Given the description of an element on the screen output the (x, y) to click on. 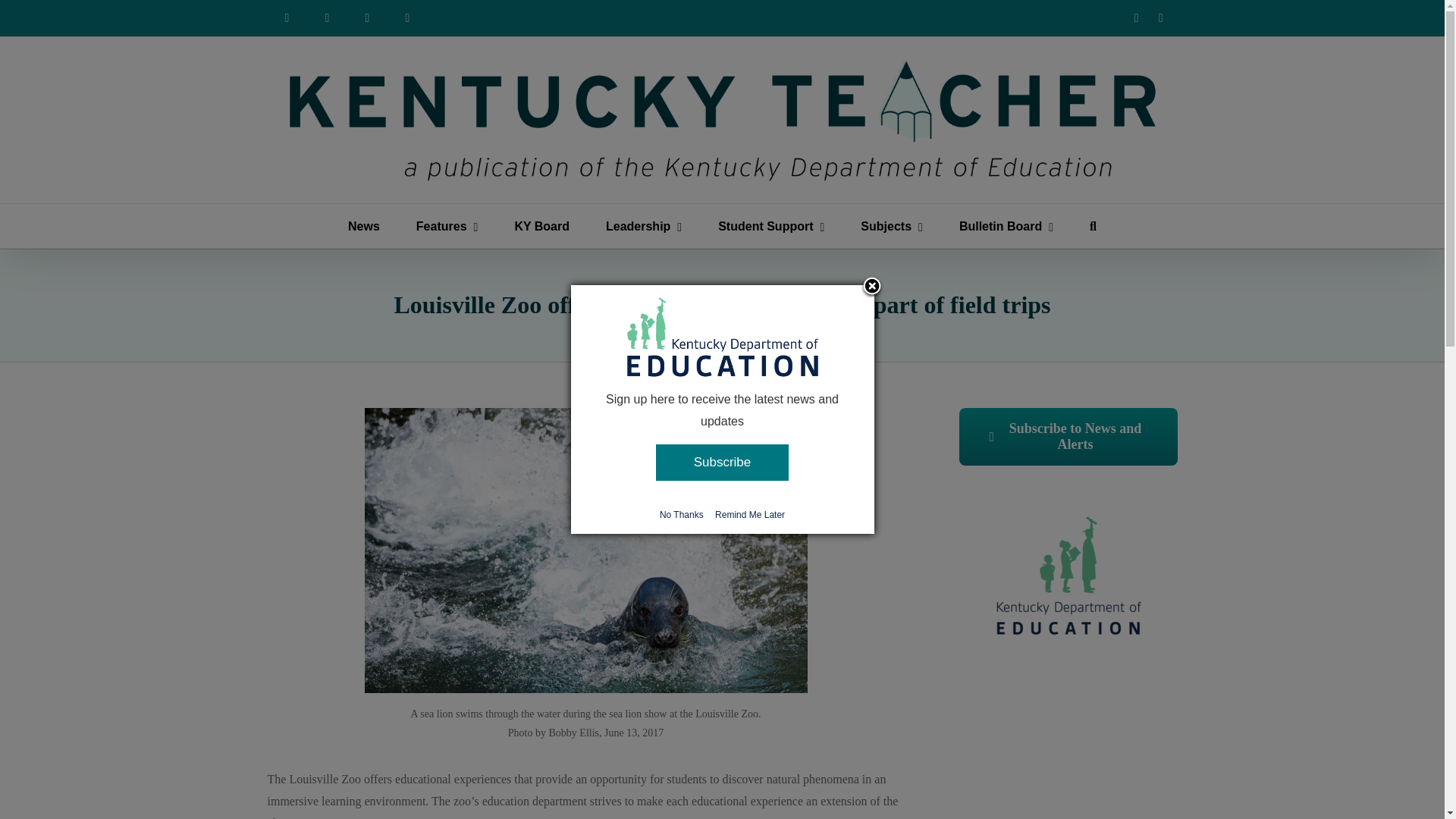
Subjects (891, 225)
KY Board (541, 225)
Leadership (643, 225)
Features (447, 225)
Student Support (770, 225)
Home (285, 18)
About (327, 18)
Bulletin Board (1005, 225)
Contact (408, 18)
Staff (367, 18)
